Given the description of an element on the screen output the (x, y) to click on. 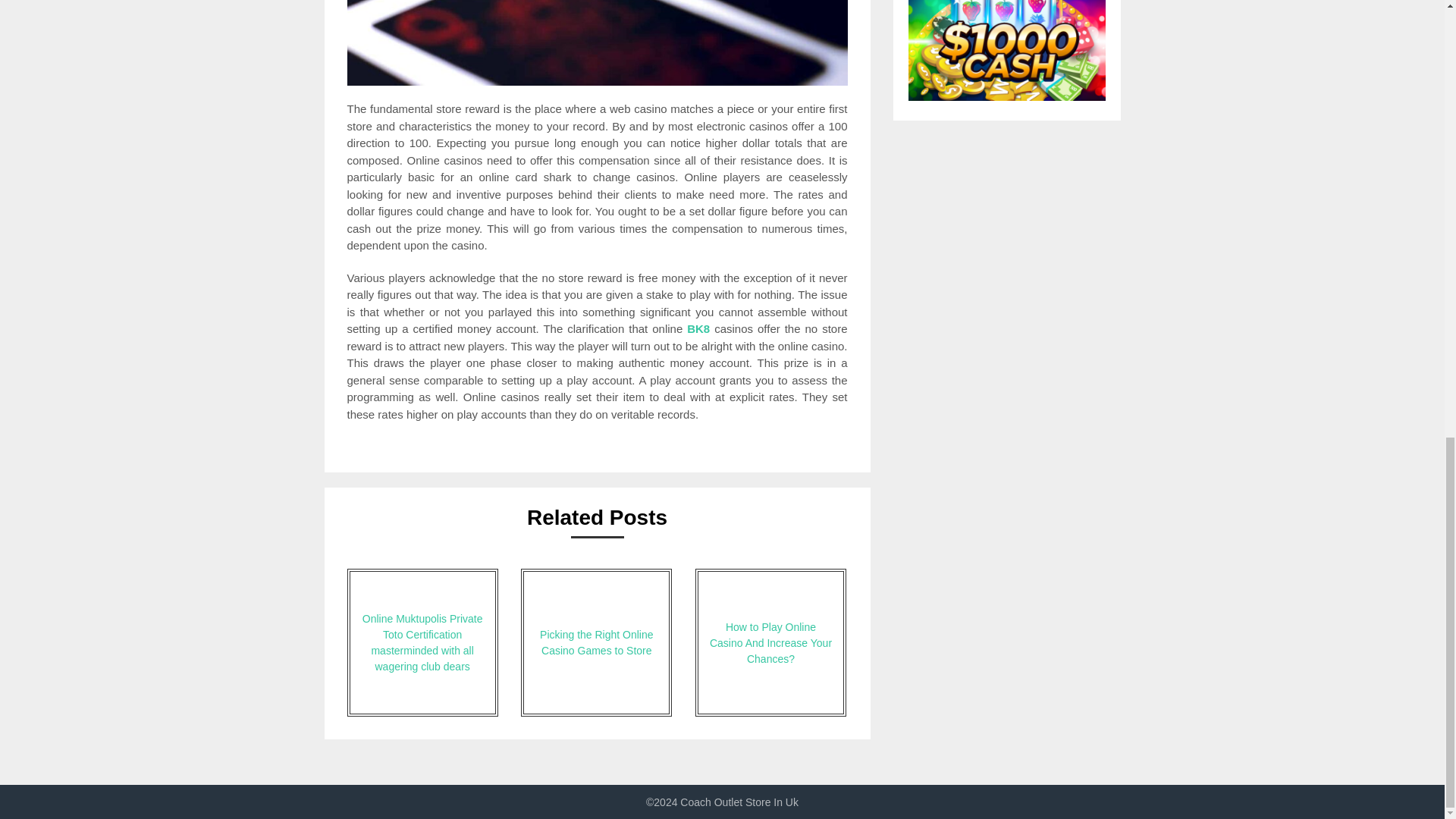
Picking the Right Online Casino Games to Store (596, 642)
How to Play Online Casino And Increase Your Chances? (770, 642)
BK8 (698, 328)
Picking the Right Online Casino Games to Store (596, 642)
How to Play Online Casino And Increase Your Chances? (770, 642)
